Given the description of an element on the screen output the (x, y) to click on. 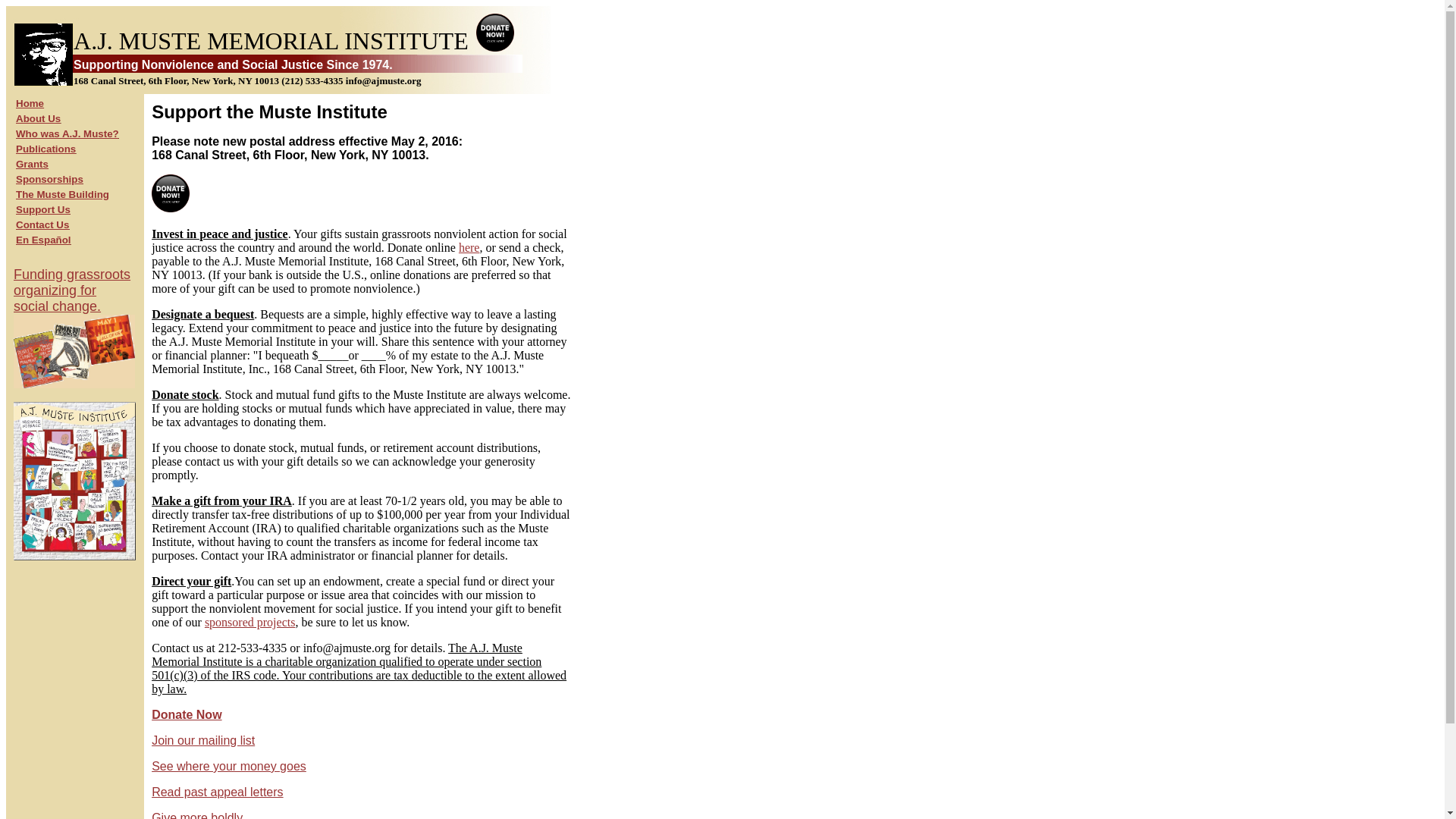
Who was A.J. Muste? (67, 133)
Give more boldly (197, 815)
Home (29, 102)
The Muste Building (62, 194)
Grants (32, 163)
Sponsorships (49, 179)
Read past appeal letters (216, 791)
About Us (38, 118)
See where your money goes (228, 766)
Contact Us (42, 224)
Publications (45, 148)
sponsored projects (250, 621)
Donate Now (186, 714)
Join our mailing list (74, 328)
